Given the description of an element on the screen output the (x, y) to click on. 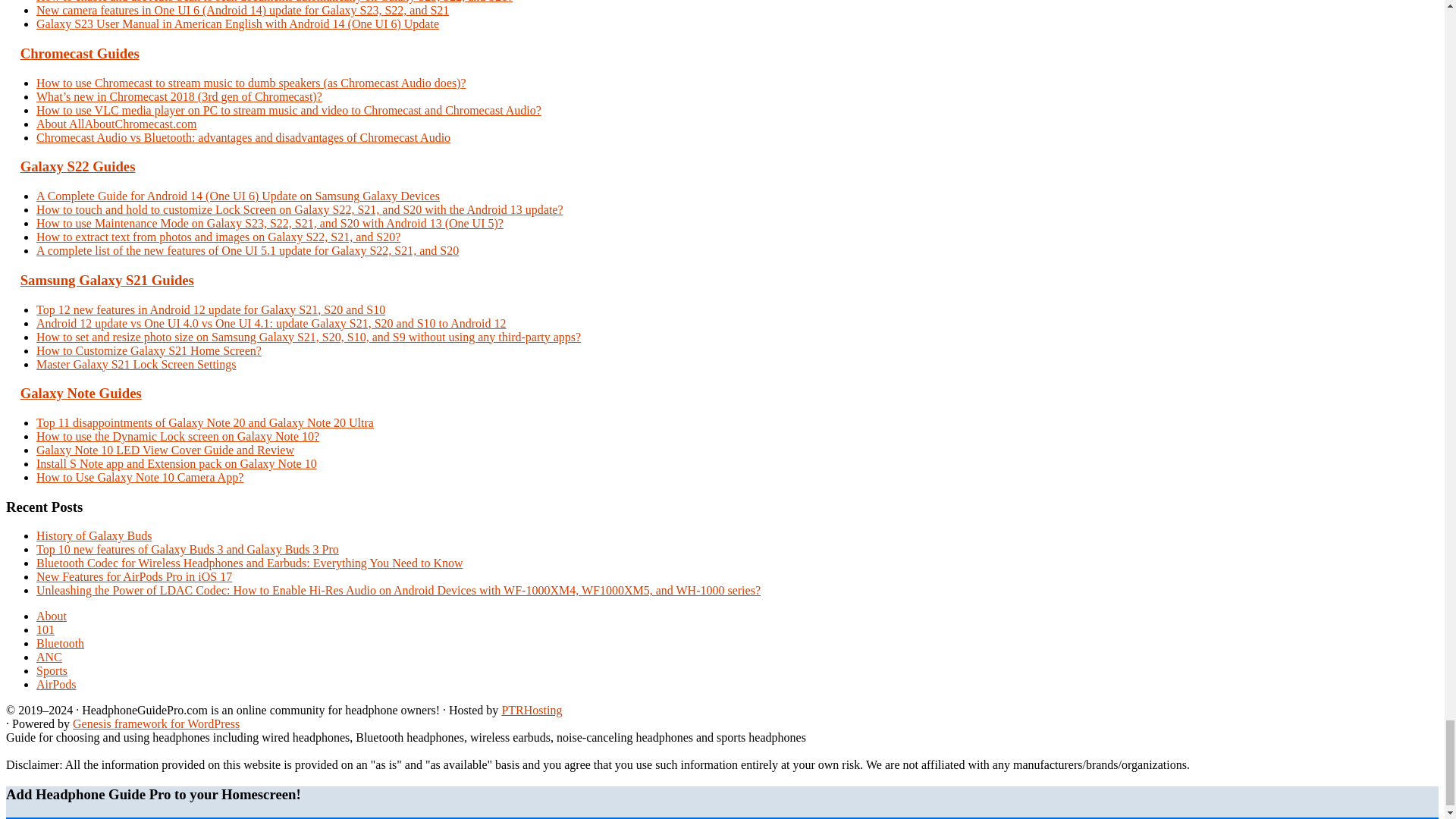
web presence solutions (531, 709)
